Given the description of an element on the screen output the (x, y) to click on. 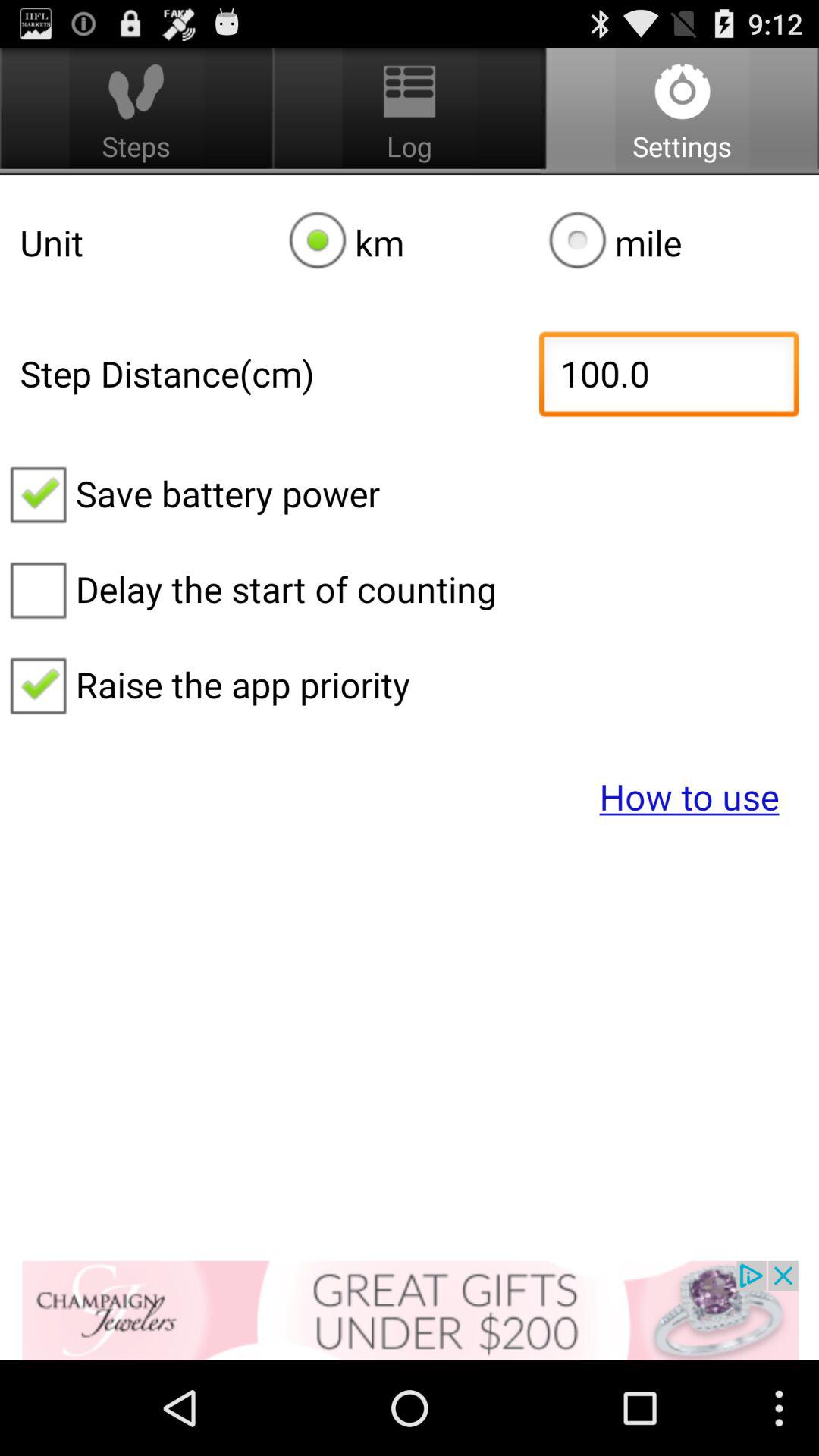
advertisement link (409, 1310)
